Given the description of an element on the screen output the (x, y) to click on. 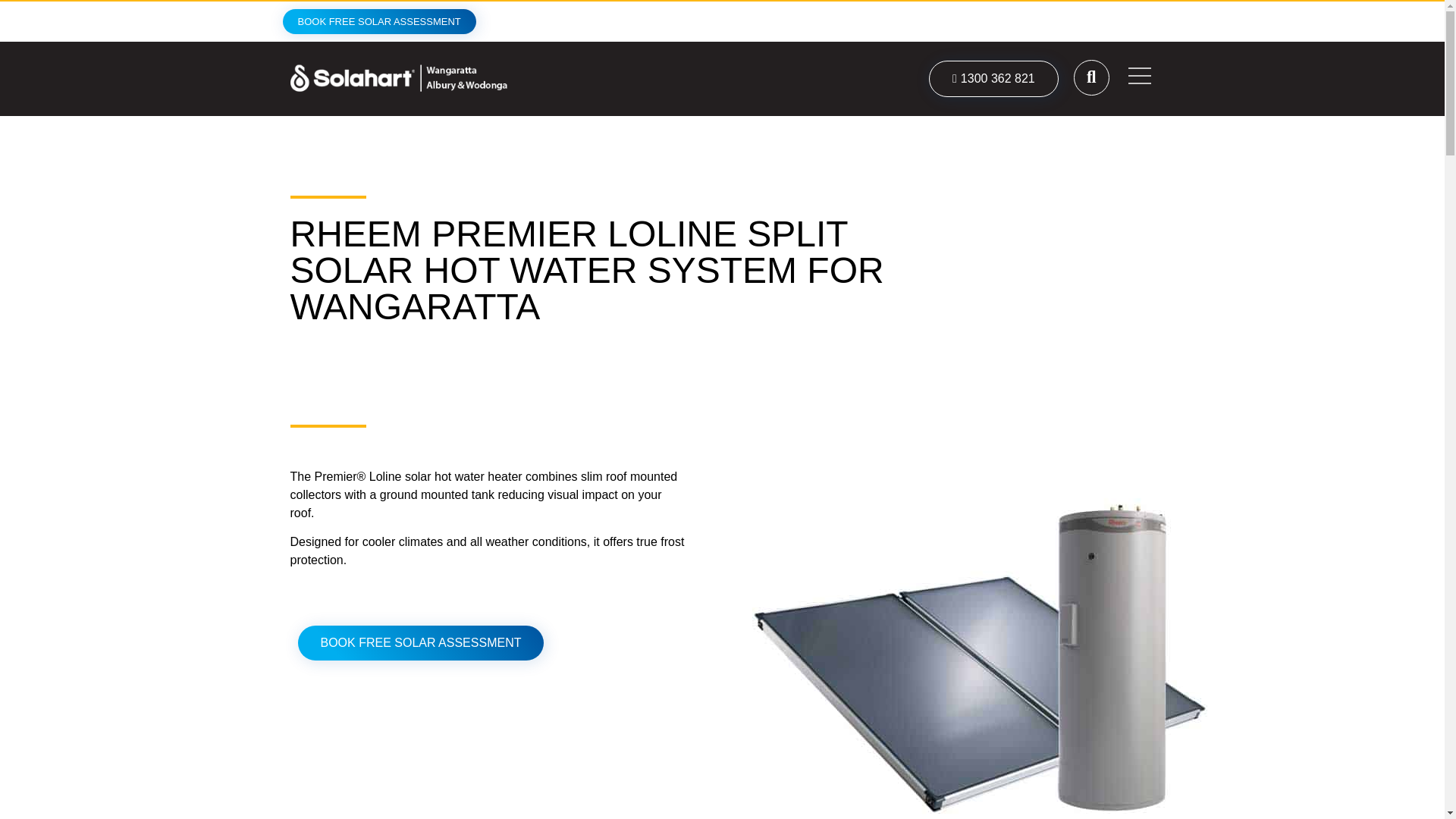
BOOK FREE SOLAR ASSESSMENT (420, 642)
BOOK FREE SOLAR ASSESSMENT (379, 21)
1300 362 821 (993, 78)
